Given the description of an element on the screen output the (x, y) to click on. 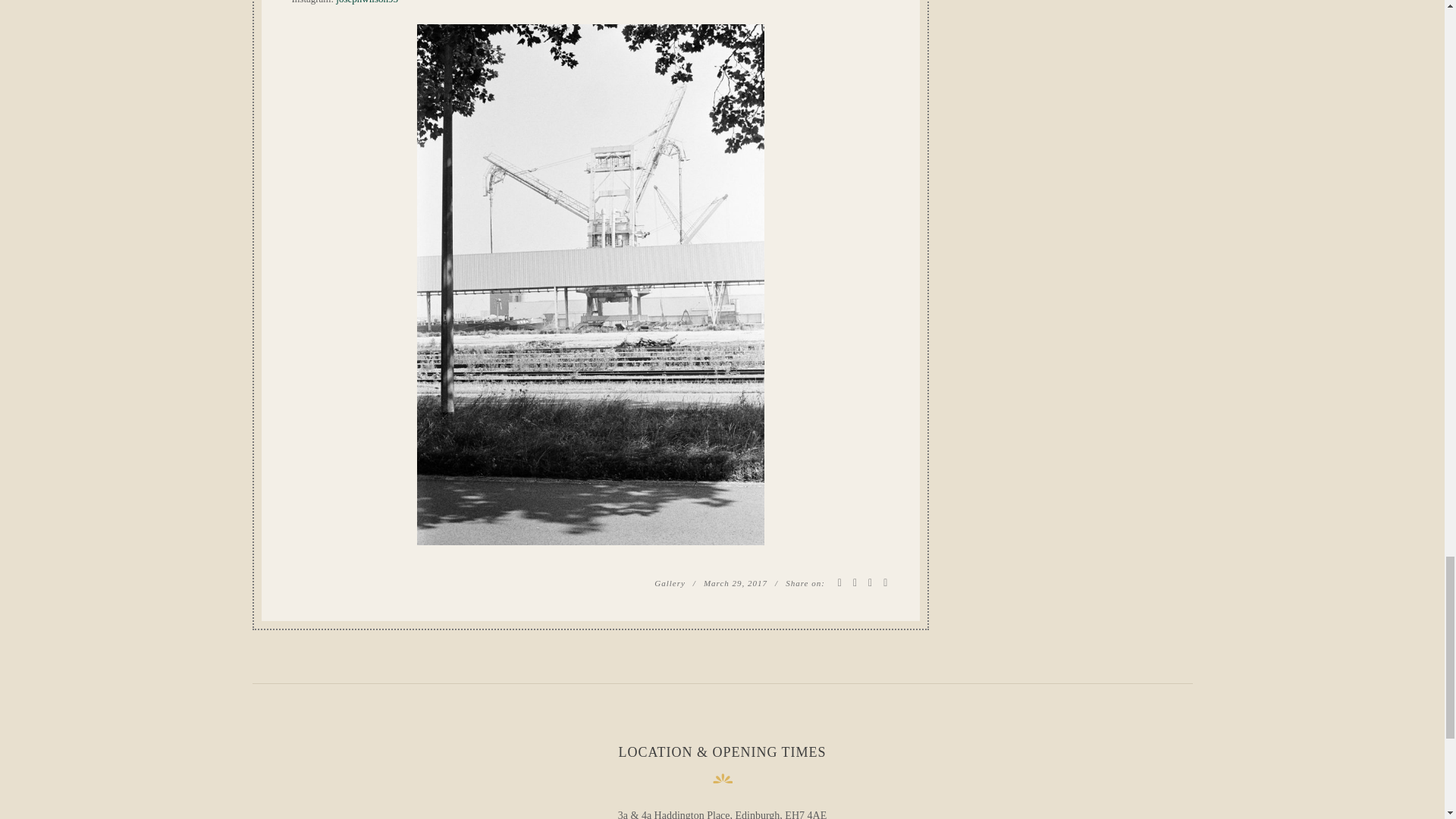
josephwilson93 (366, 2)
Gallery (669, 583)
